Given the description of an element on the screen output the (x, y) to click on. 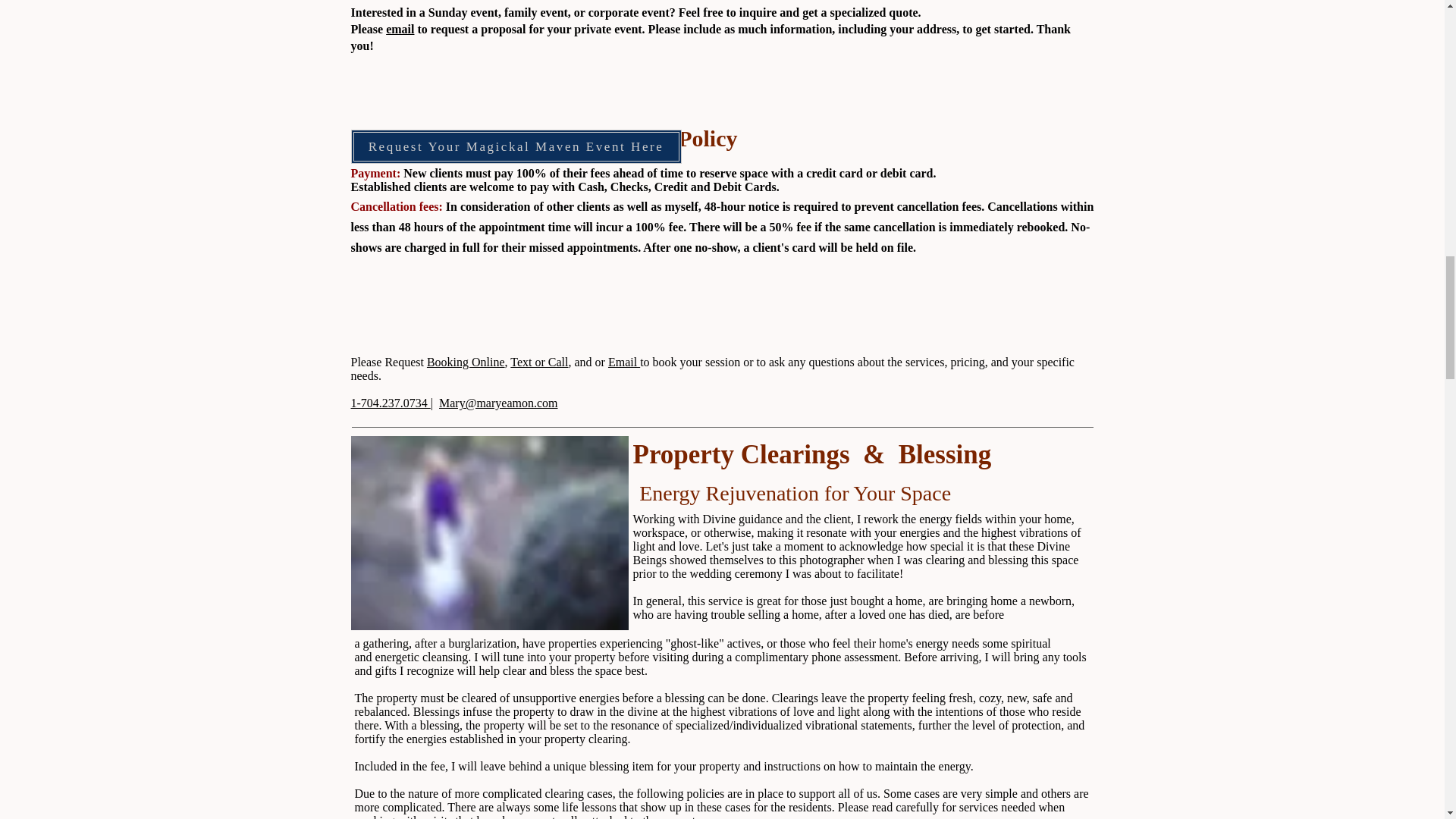
Email (624, 361)
1-704.237.0734  (389, 402)
Booking Online (465, 361)
Text or Call (539, 361)
Request Your Magickal Maven Event Here (515, 146)
email (399, 29)
